Given the description of an element on the screen output the (x, y) to click on. 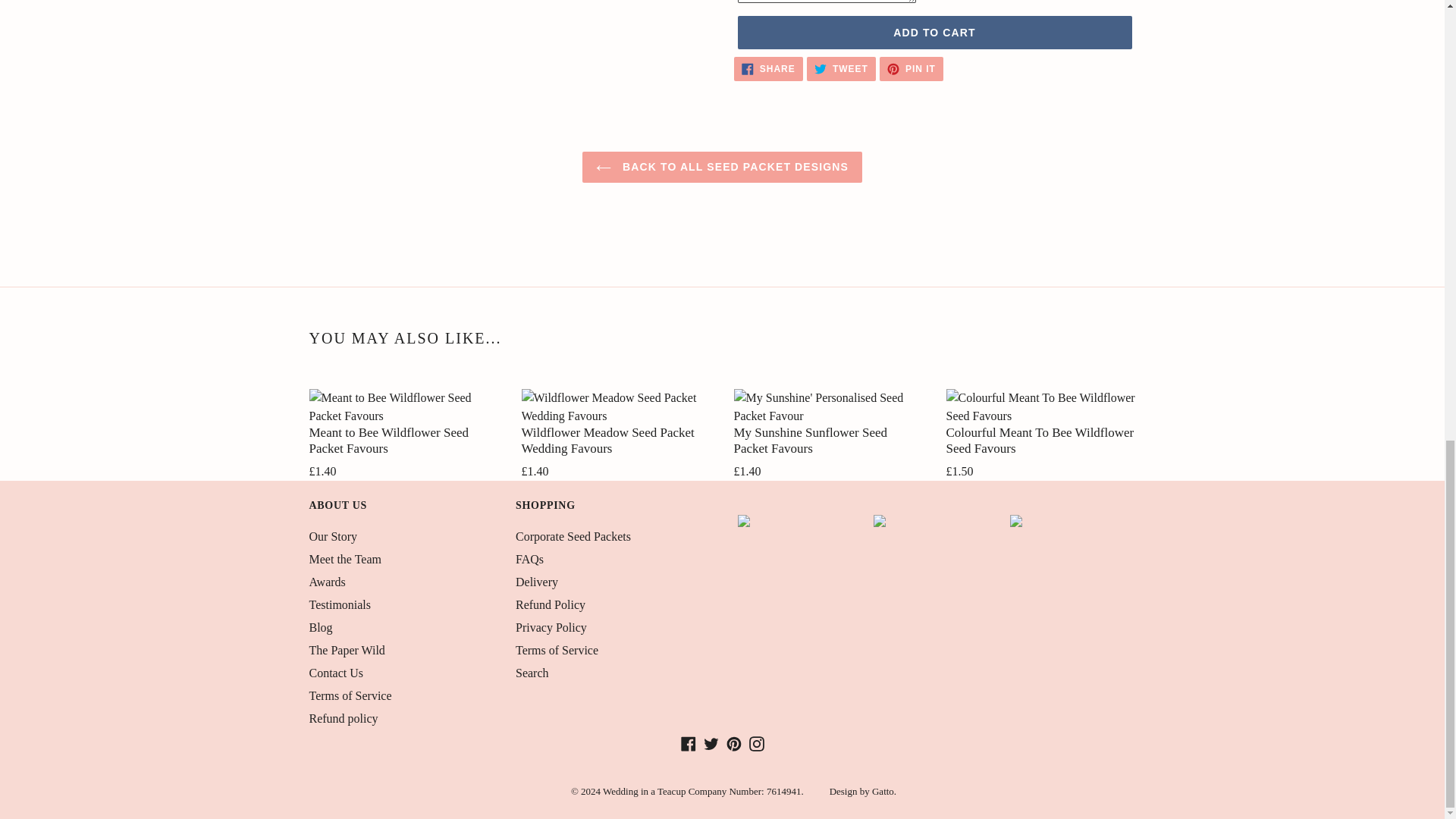
Testimonials (339, 604)
Awards (327, 581)
BACK TO ALL SEED PACKET DESIGNS (721, 166)
Our Story (333, 535)
The Paper Wild (346, 649)
ADD TO CART (841, 68)
Contact Us (933, 32)
